Given the description of an element on the screen output the (x, y) to click on. 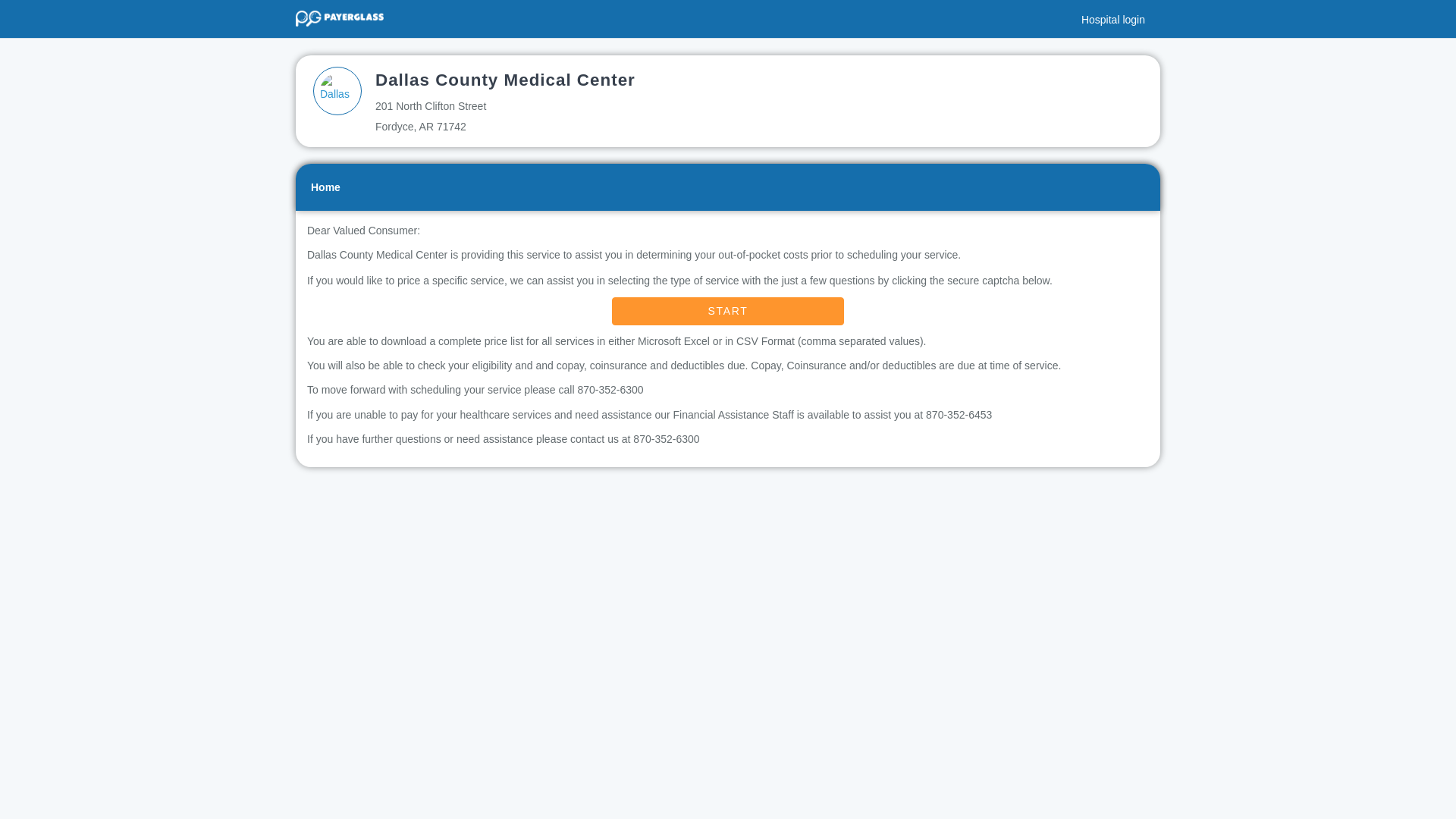
START (727, 310)
Hospital login (1117, 13)
